Given the description of an element on the screen output the (x, y) to click on. 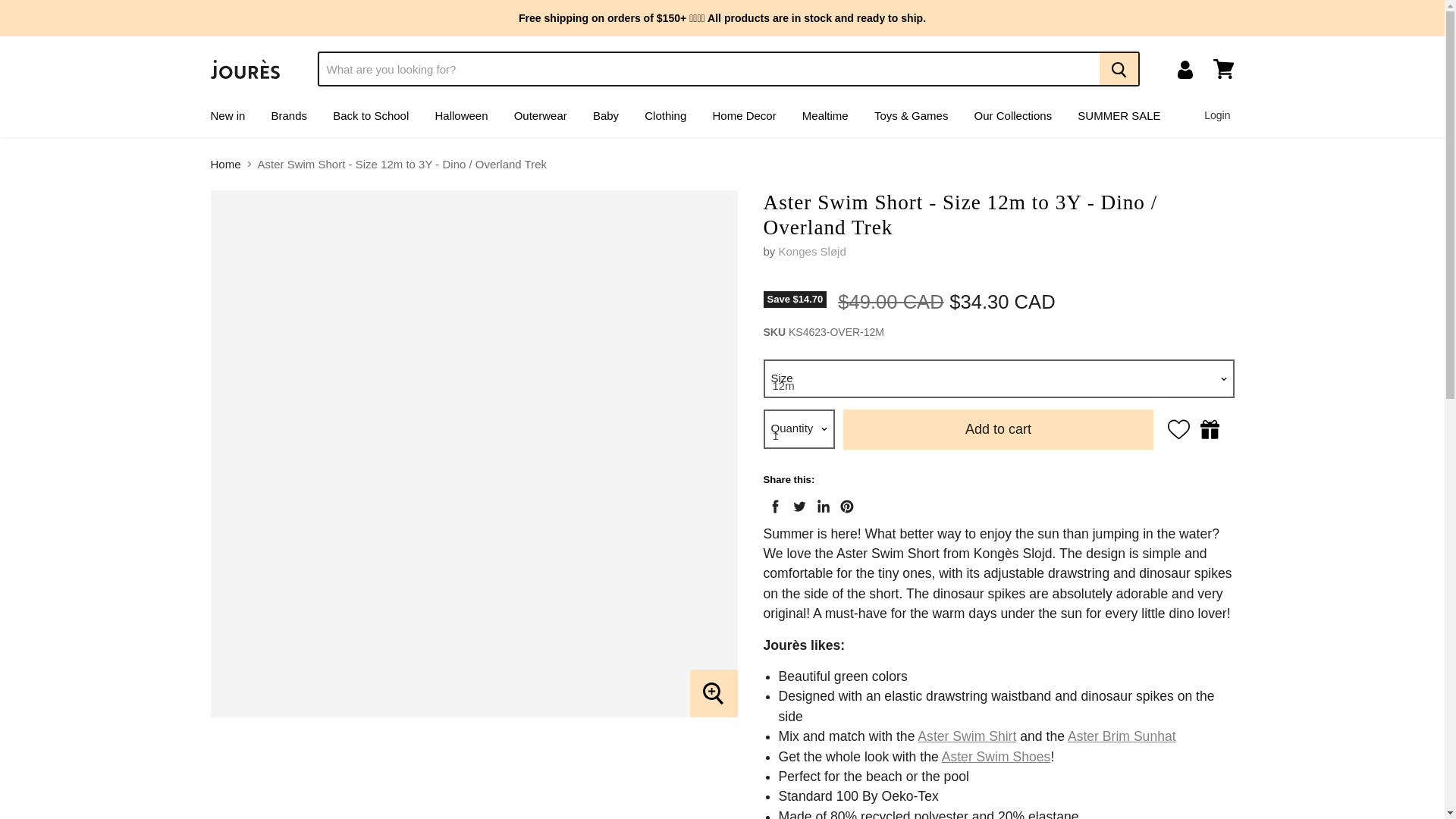
View cart (1223, 68)
New in (227, 115)
My account (1185, 69)
Brands (289, 115)
